Given the description of an element on the screen output the (x, y) to click on. 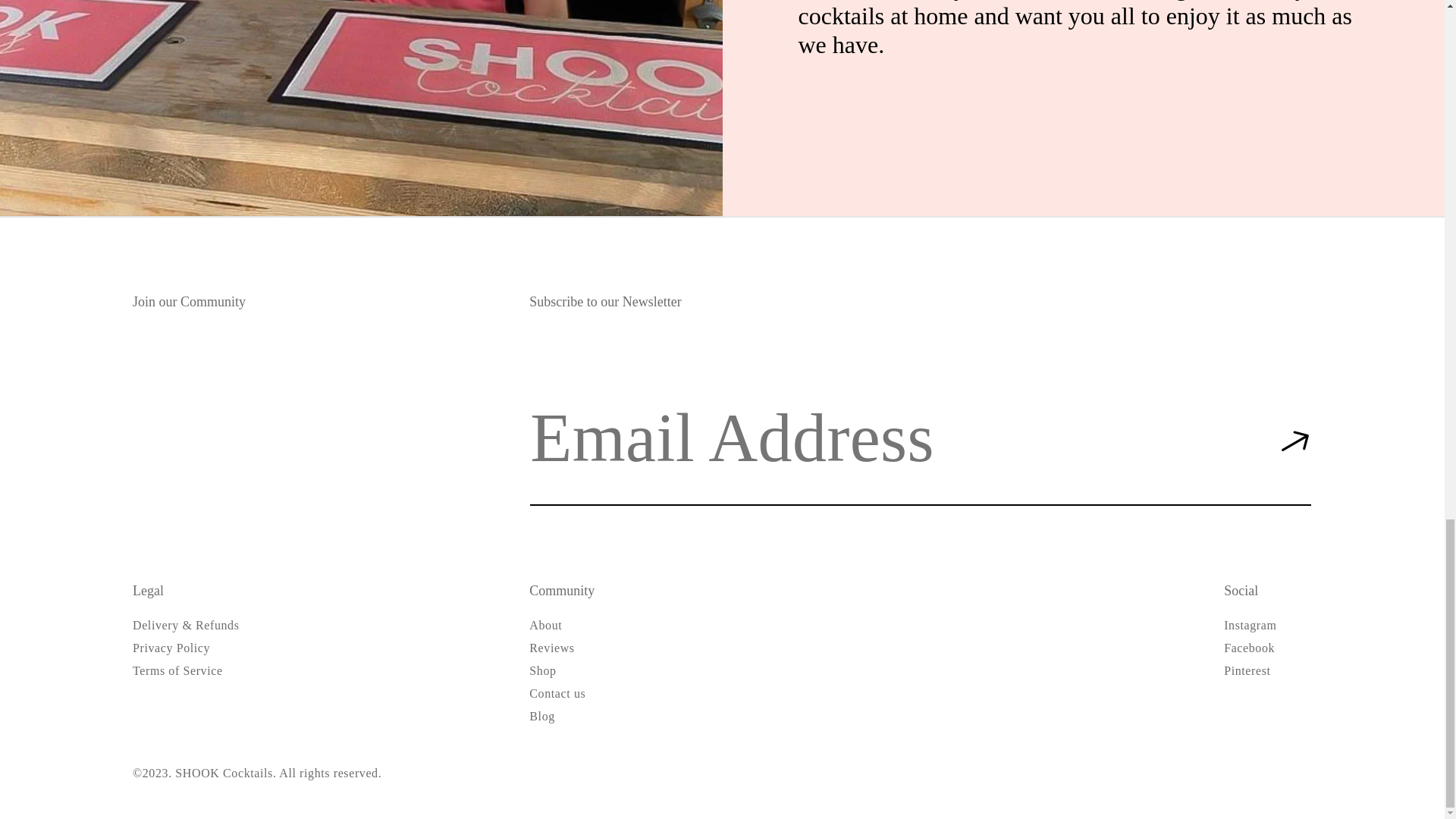
Instagram (1250, 625)
Shop (542, 671)
Facebook (1249, 648)
Privacy Policy (170, 648)
Blog (541, 716)
Terms of Service (177, 671)
Reviews (551, 648)
Pinterest (1246, 671)
About (545, 625)
Contact us (557, 693)
